Given the description of an element on the screen output the (x, y) to click on. 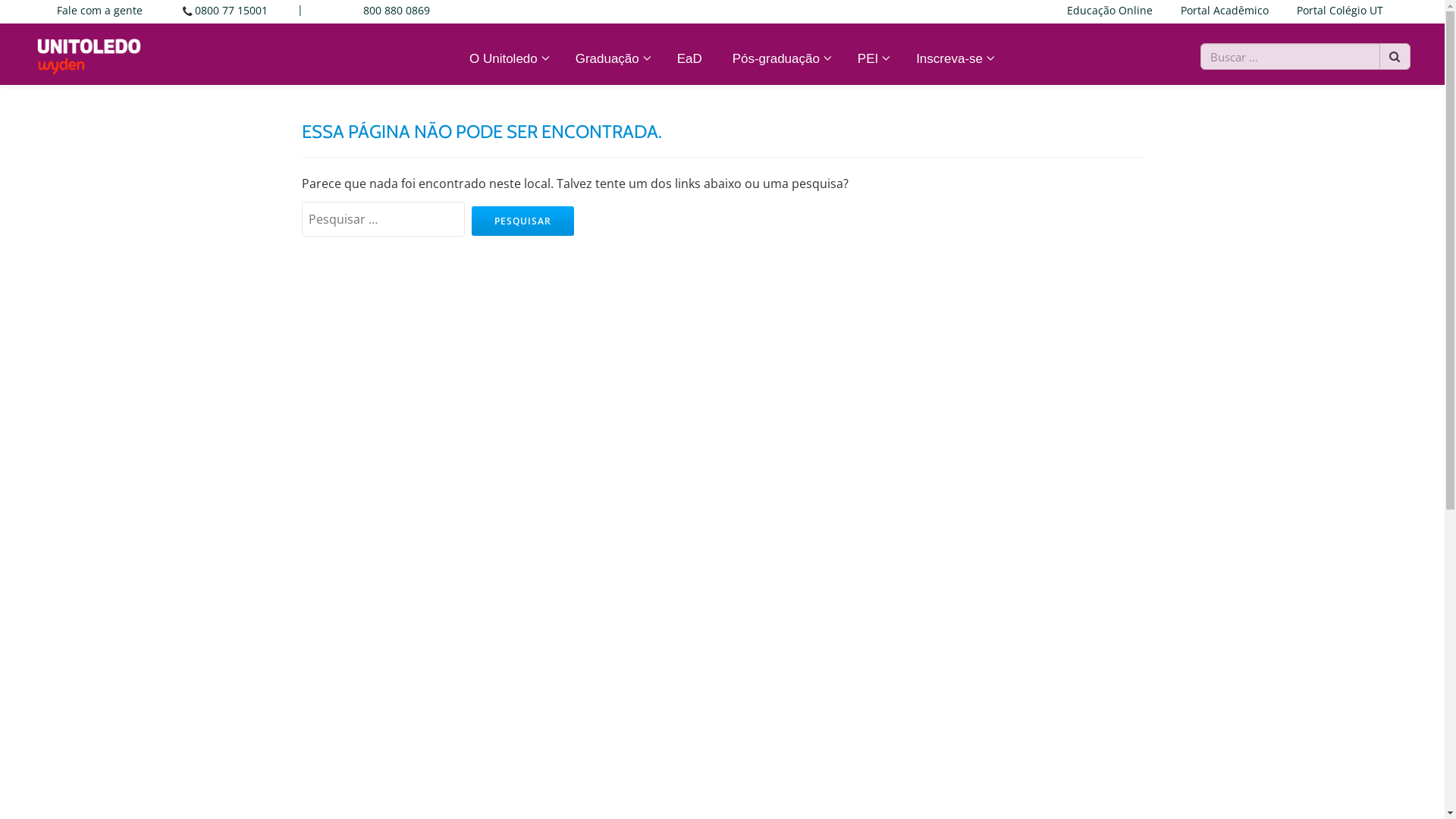
0800 77 15001 Element type: text (230, 10)
Inscreva-se Element type: text (953, 58)
800 880 0869 Element type: text (396, 10)
O Unitoledo Element type: text (507, 58)
PEI Element type: text (871, 58)
UniToledo Element type: hover (89, 50)
Pesquisar Element type: text (522, 220)
EaD Element type: text (689, 58)
